Given the description of an element on the screen output the (x, y) to click on. 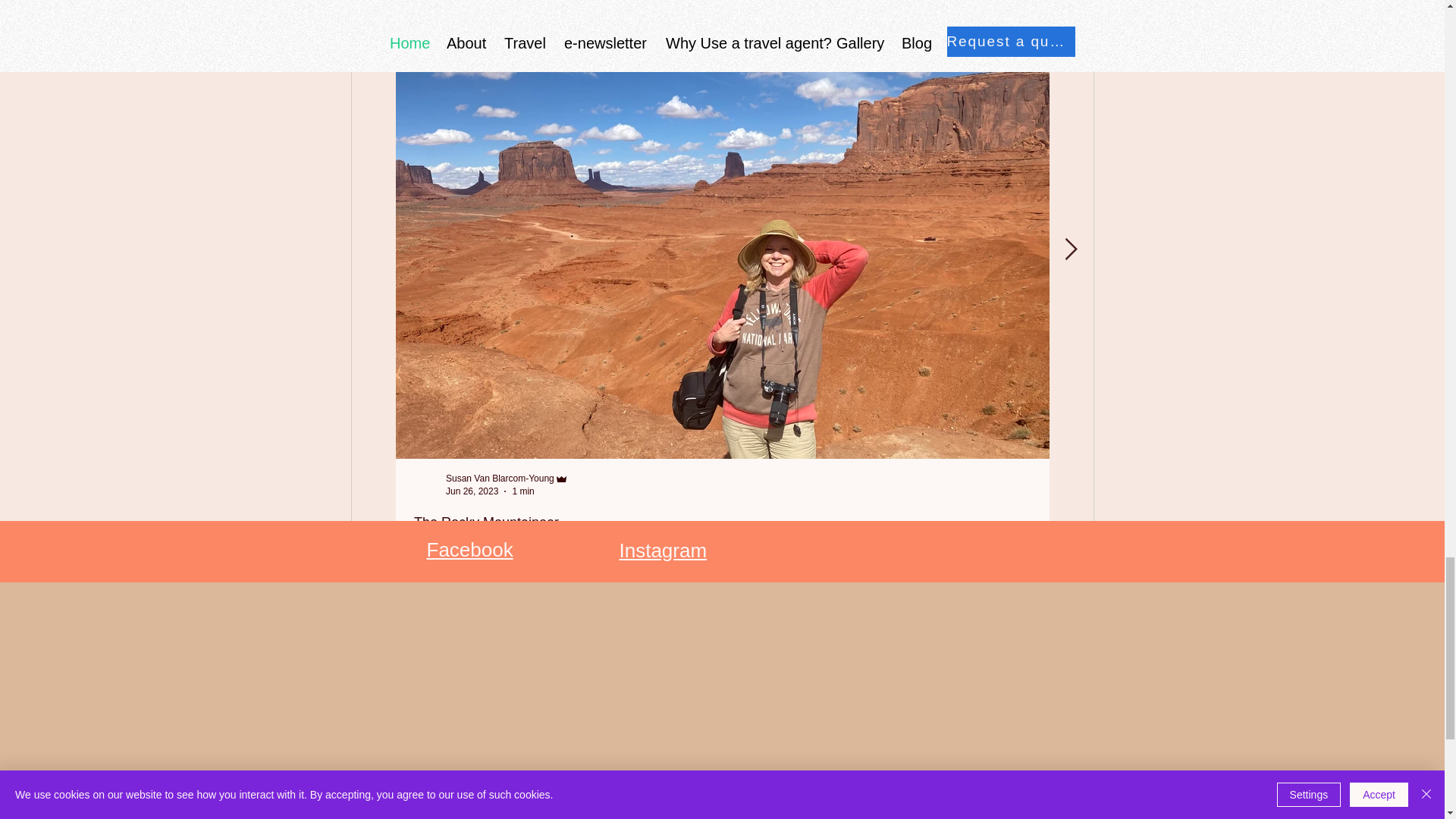
Susan Van Blarcom-Young (499, 478)
0 (469, 607)
1 min (523, 490)
May 29, 2023 (1126, 490)
2 min (1178, 490)
Instagram (662, 549)
Jun 26, 2023 (471, 490)
Susan Van Blarcom-Young (1153, 478)
The Rocky Mountaineer (721, 522)
0 (1122, 607)
